Given the description of an element on the screen output the (x, y) to click on. 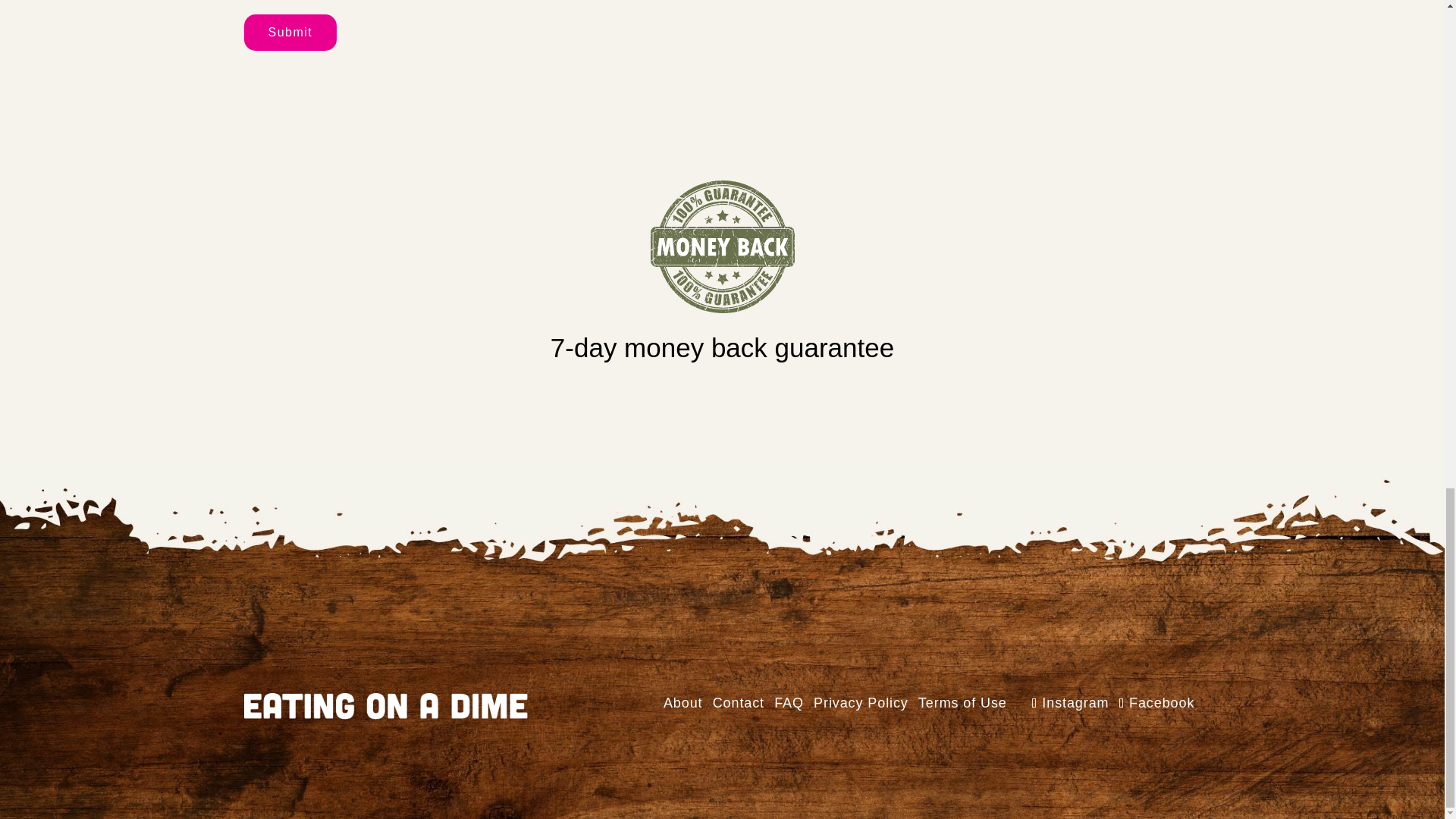
Submit (290, 32)
Instagram (1070, 702)
Terms of Use (962, 702)
FAQ (788, 702)
Facebook (1157, 702)
Privacy Policy (860, 702)
Contact (738, 702)
Submit (290, 32)
About (683, 702)
